Given the description of an element on the screen output the (x, y) to click on. 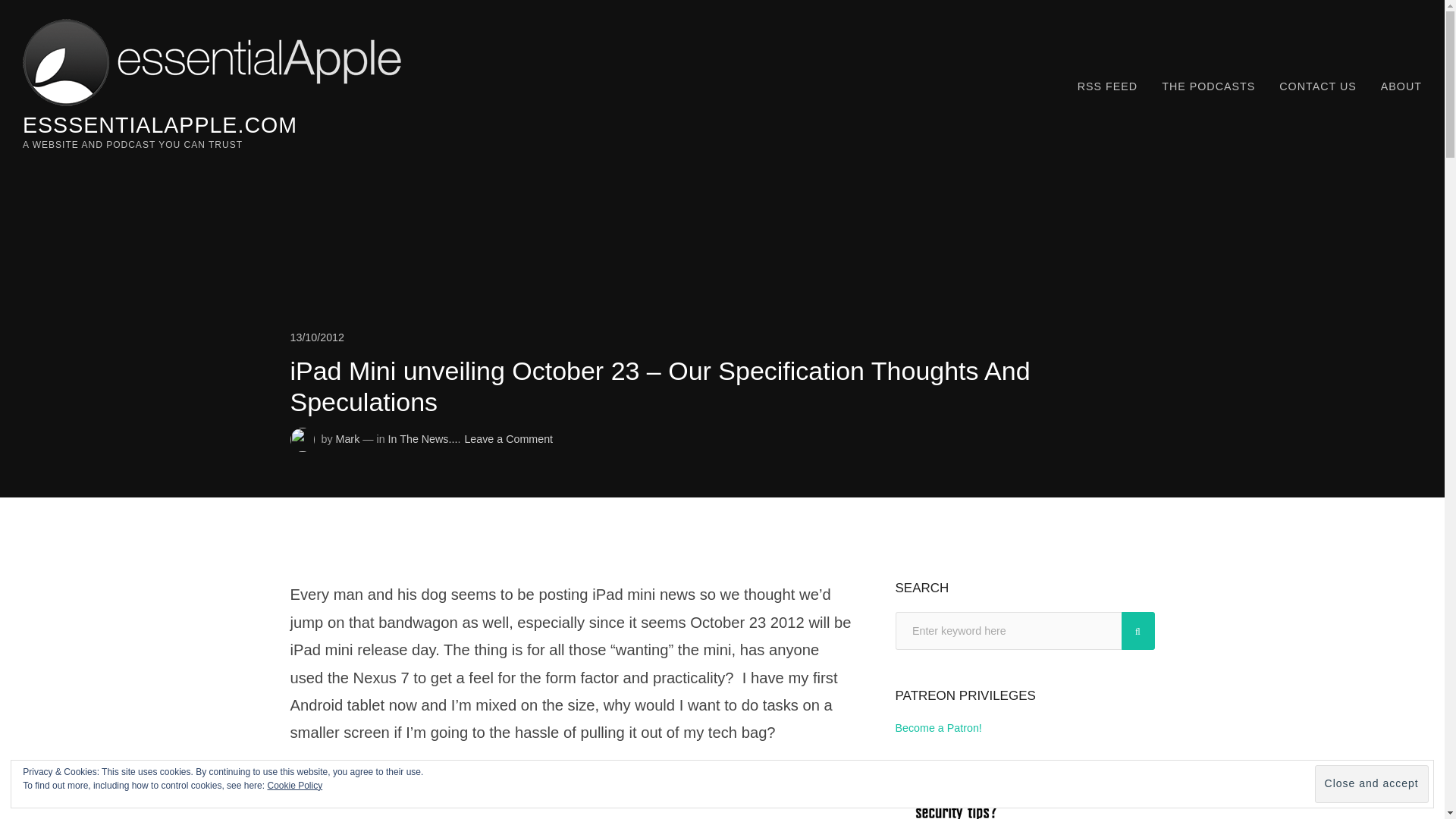
RSS FEED (1107, 86)
Mark (347, 439)
Close and accept (1371, 783)
CONTACT US (1317, 86)
In The News... (423, 439)
Get in touch with Essentialmac.co.uk (1317, 86)
Close and accept (1371, 783)
ABOUT (1401, 86)
ESSSENTIALAPPLE.COM (160, 125)
Cookie Policy (293, 785)
Become a Patron! (938, 727)
THE PODCASTS (1208, 86)
SEARCH (1137, 630)
